Given the description of an element on the screen output the (x, y) to click on. 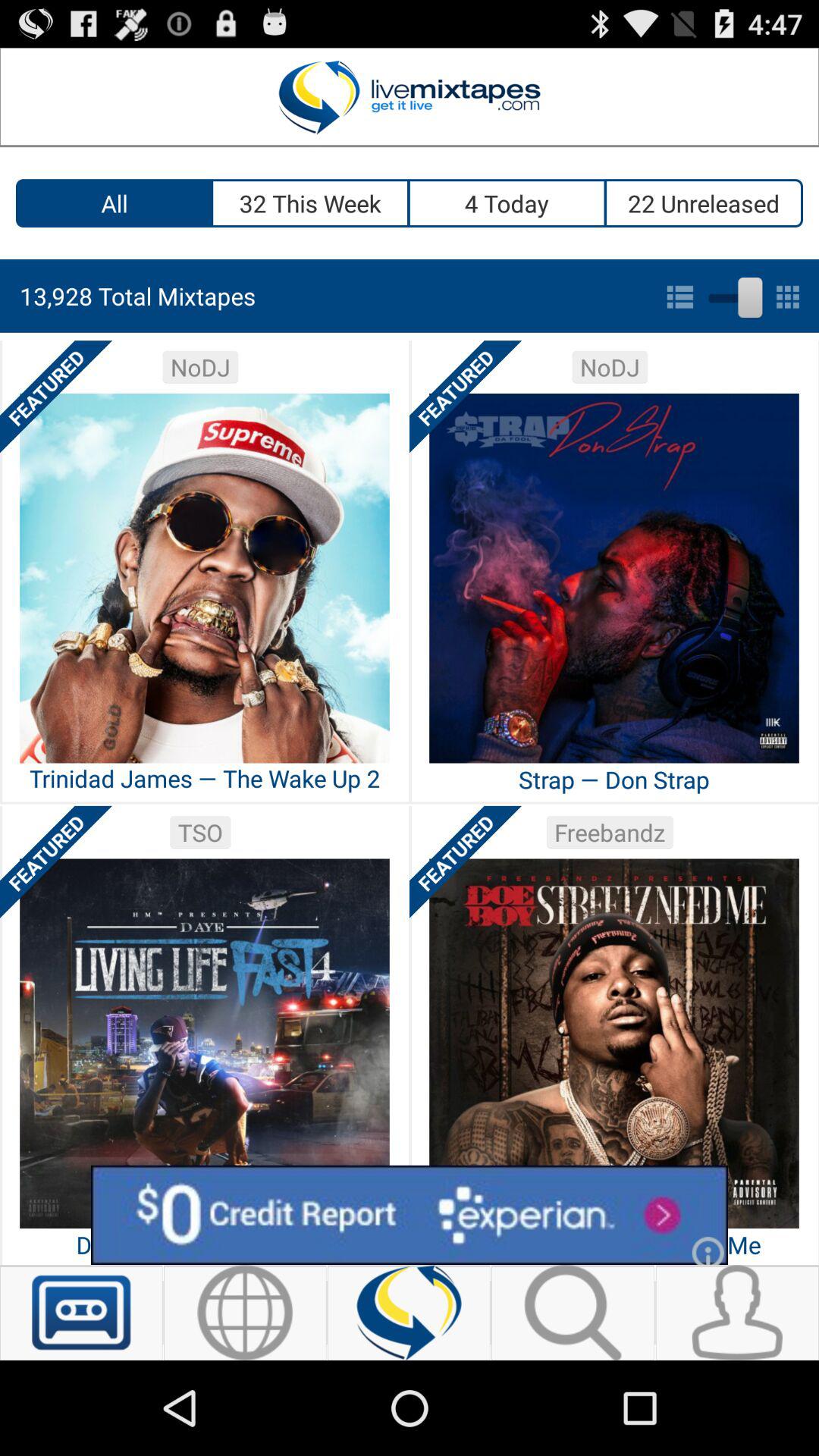
turn on the app to the right of 13 928 total app (733, 294)
